Given the description of an element on the screen output the (x, y) to click on. 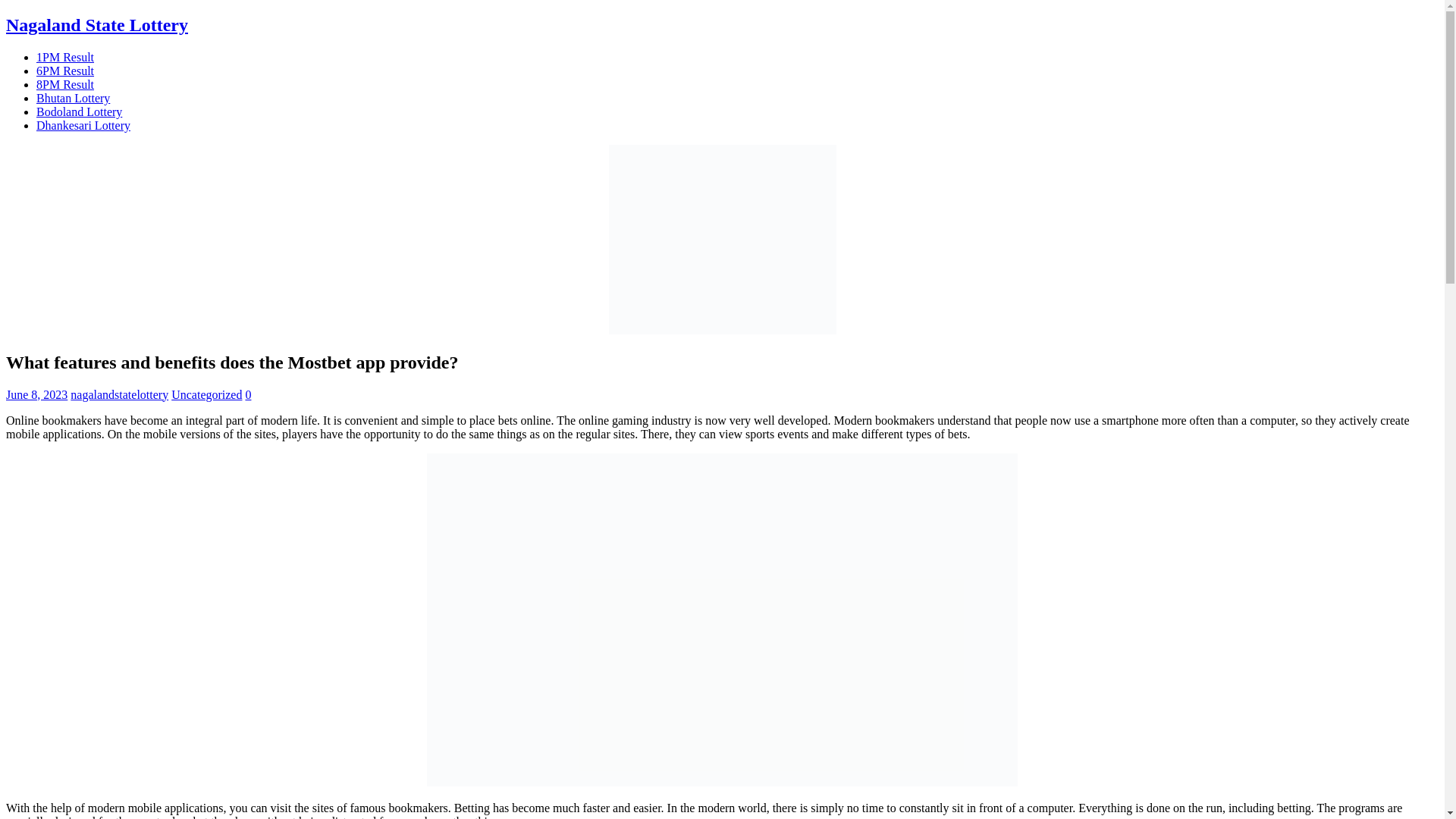
Bhutan Lottery (73, 97)
Bodoland Lottery (79, 111)
June 8, 2023 (35, 394)
1PM Result (65, 56)
Uncategorized (206, 394)
8PM Result (65, 83)
nagalandstatelottery (118, 394)
6PM Result (65, 70)
Dhankesari Lottery (83, 124)
